Given the description of an element on the screen output the (x, y) to click on. 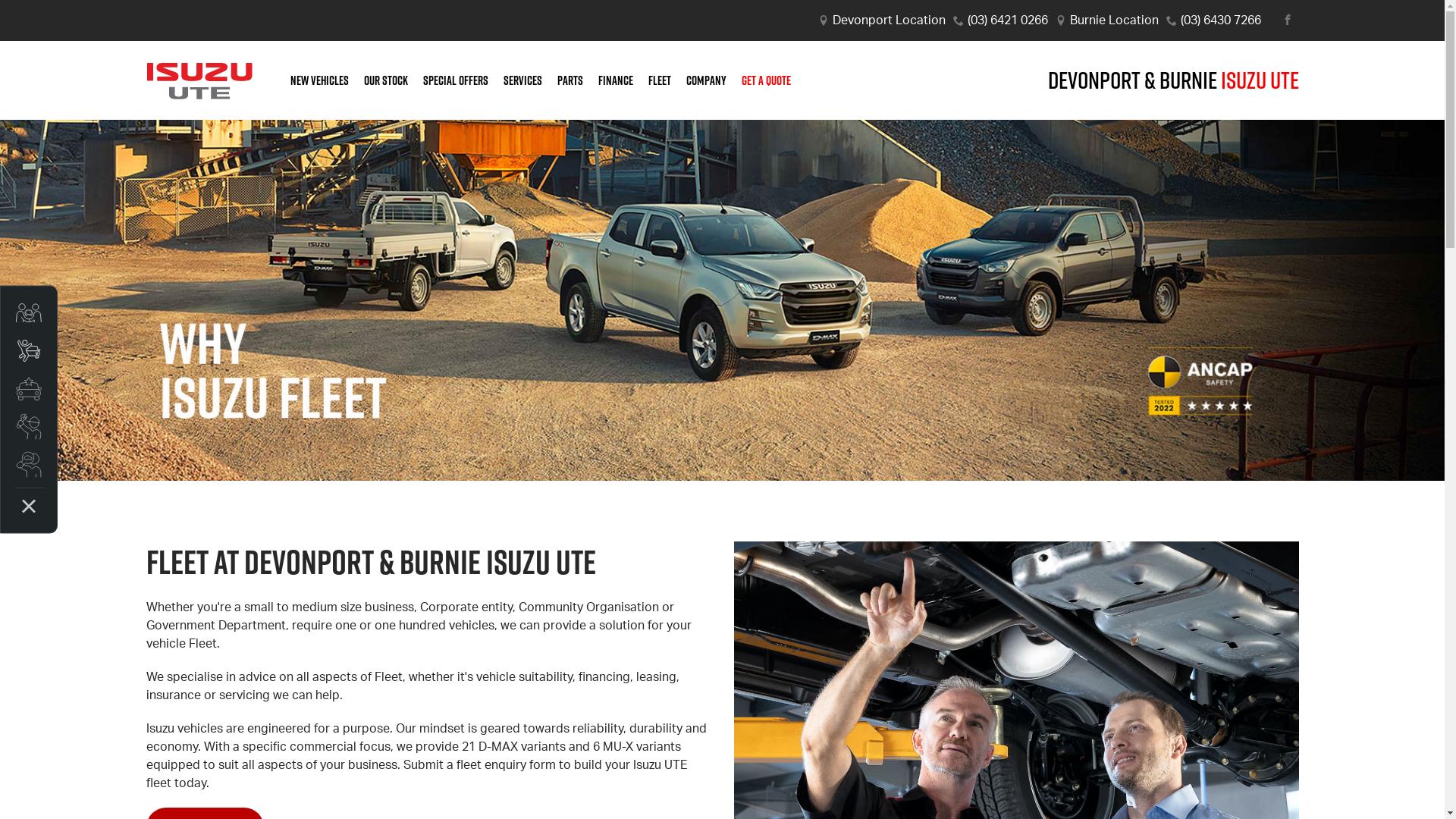
OUR STOCK Element type: text (385, 79)
SPECIAL OFFERS Element type: text (455, 79)
SERVICES Element type: text (522, 79)
(03) 6430 7266 Element type: text (1219, 20)
Devonport Location Element type: text (888, 20)
FLEET Element type: text (658, 79)
Burnie Location Element type: text (1113, 20)
FINANCE Element type: text (614, 79)
(03) 6421 0266 Element type: text (1007, 20)
COMPANY Element type: text (705, 79)
GET A QUOTE Element type: text (762, 79)
NEW VEHICLES Element type: text (318, 79)
PARTS Element type: text (569, 79)
